Given the description of an element on the screen output the (x, y) to click on. 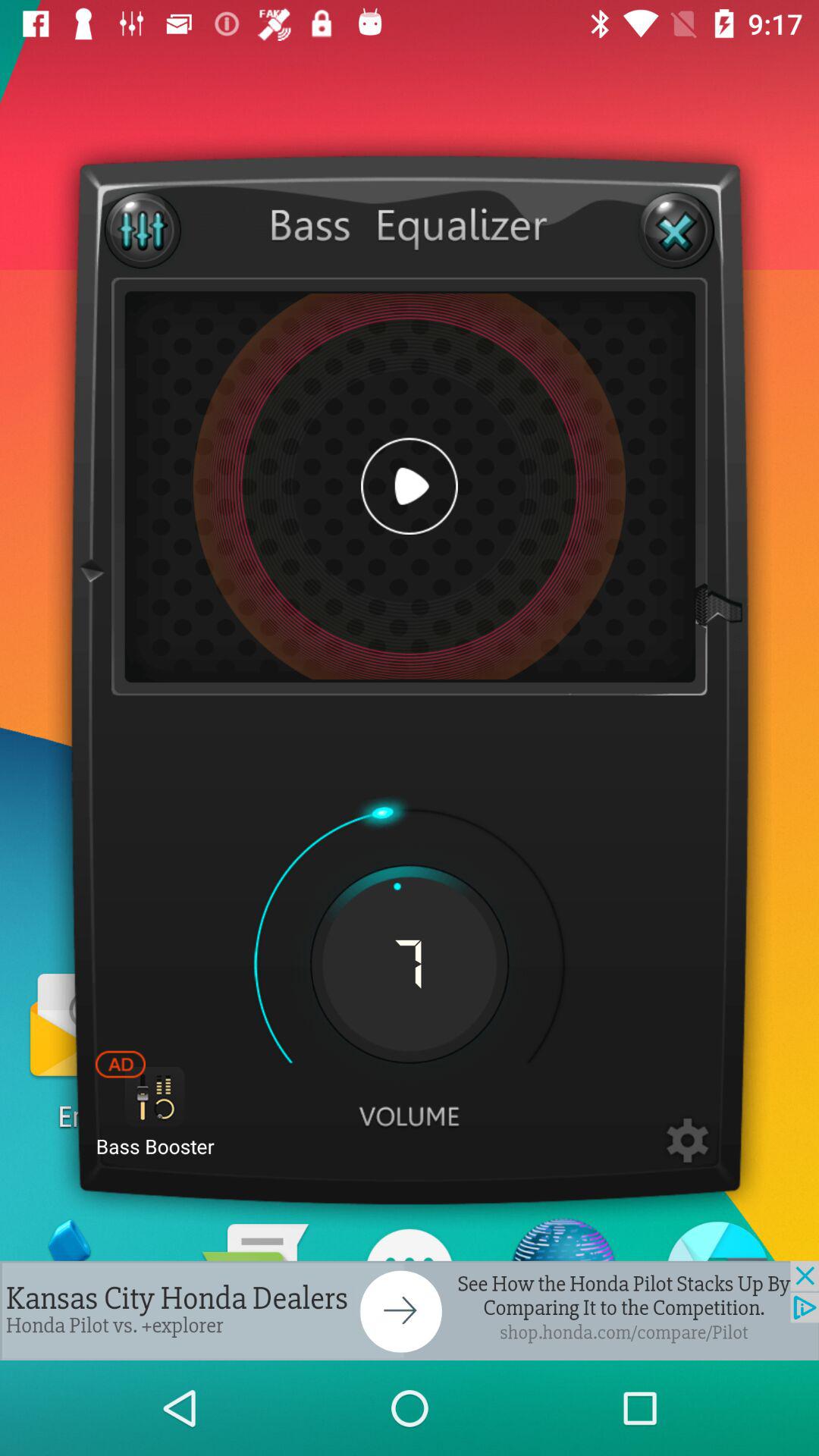
play button (409, 485)
